Given the description of an element on the screen output the (x, y) to click on. 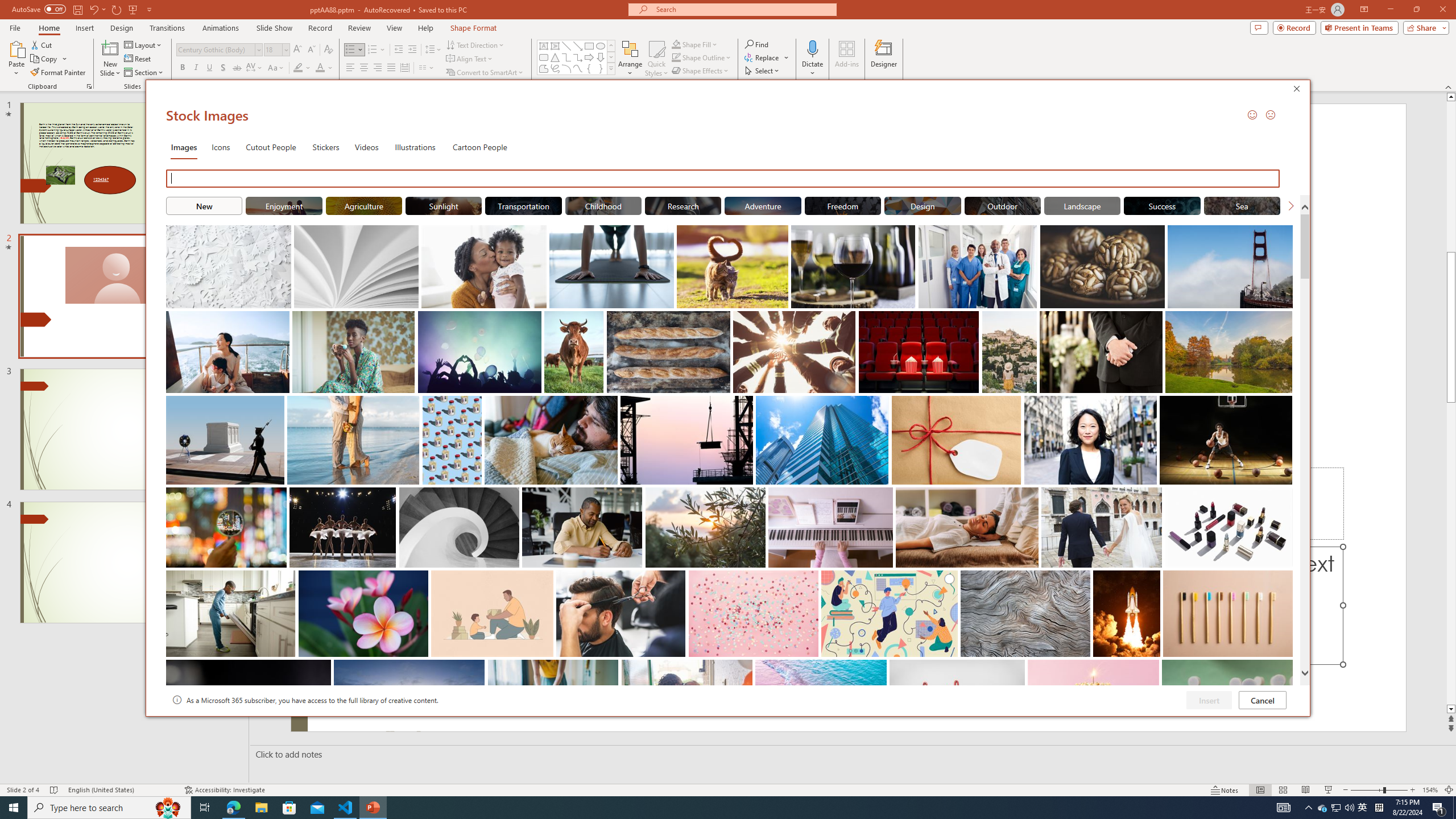
"Sea" Stock Images. (1241, 205)
